Given the description of an element on the screen output the (x, y) to click on. 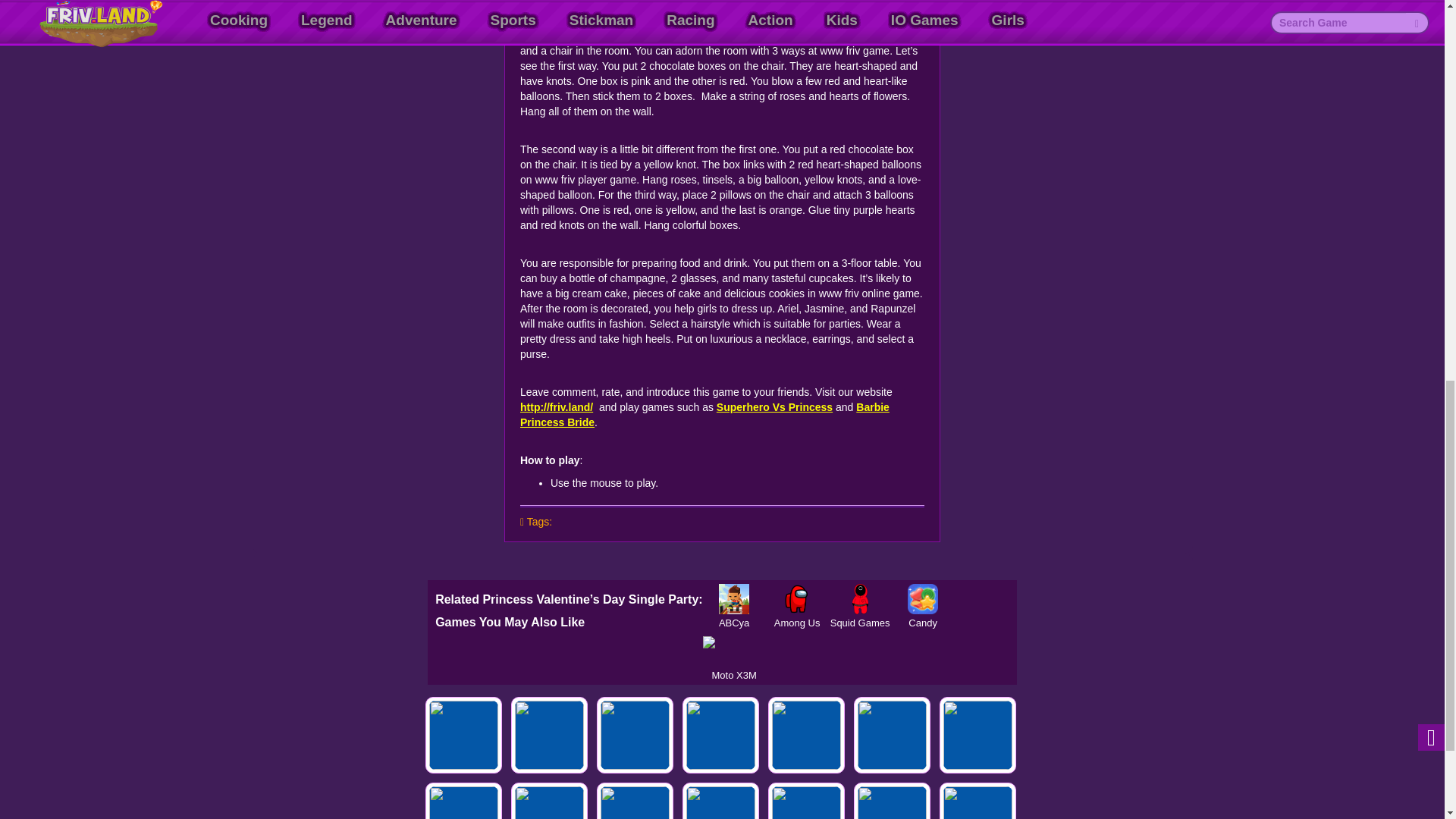
Superhero Vs Princess (774, 407)
Princess Fidget Spinner Design (463, 735)
ABCya (734, 598)
Princess In Minion Style (549, 735)
ABCya (734, 598)
Barbie Princess Bride (704, 414)
Among Us (796, 598)
Among Us (796, 598)
Squid Games (859, 598)
Candy (923, 598)
